Given the description of an element on the screen output the (x, y) to click on. 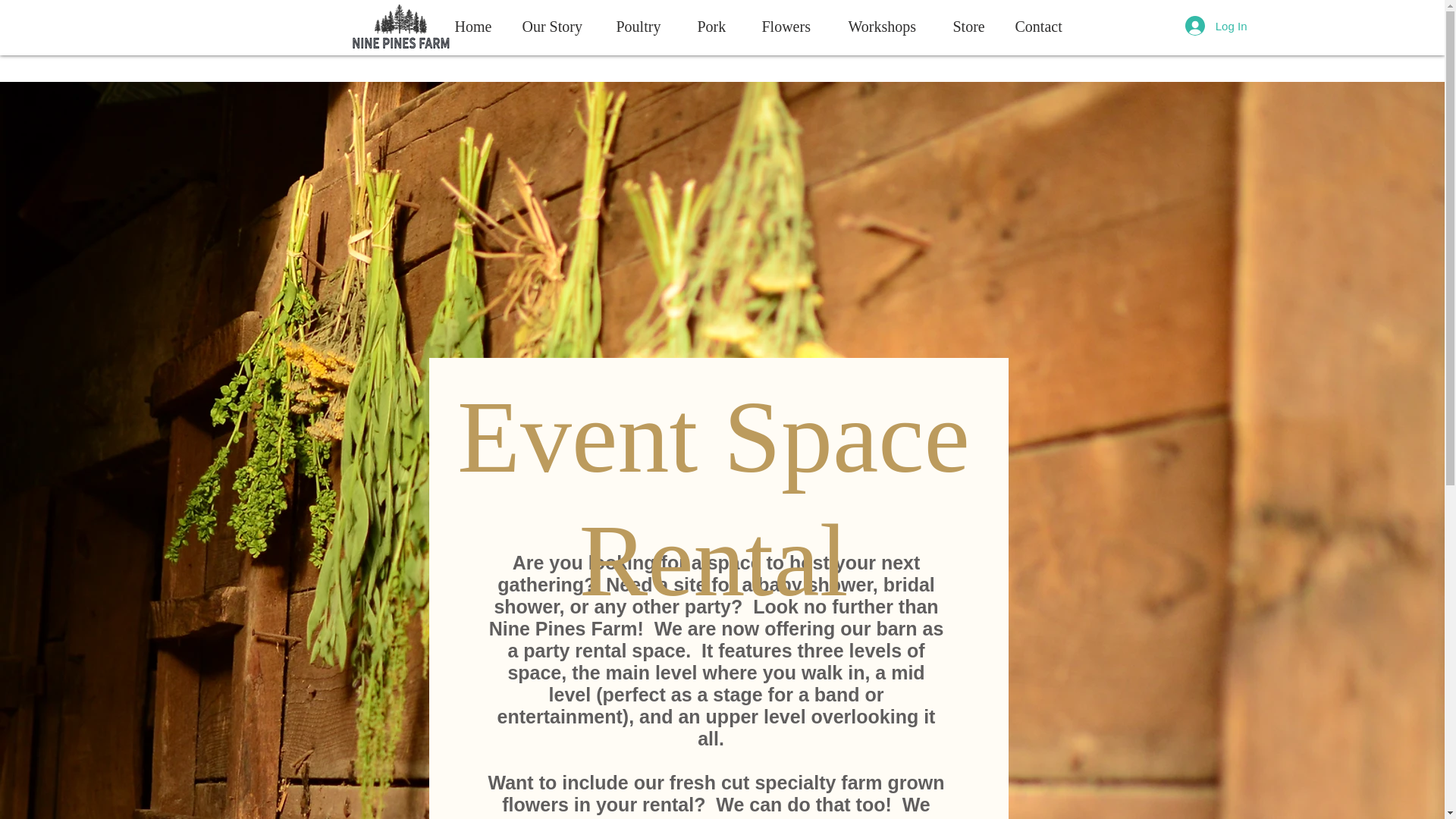
Flowers (792, 26)
Poultry (644, 26)
Contact (1040, 26)
Workshops (887, 26)
Home (474, 26)
Log In (1215, 25)
Our Story (556, 26)
Store (971, 26)
Pork (716, 26)
